Given the description of an element on the screen output the (x, y) to click on. 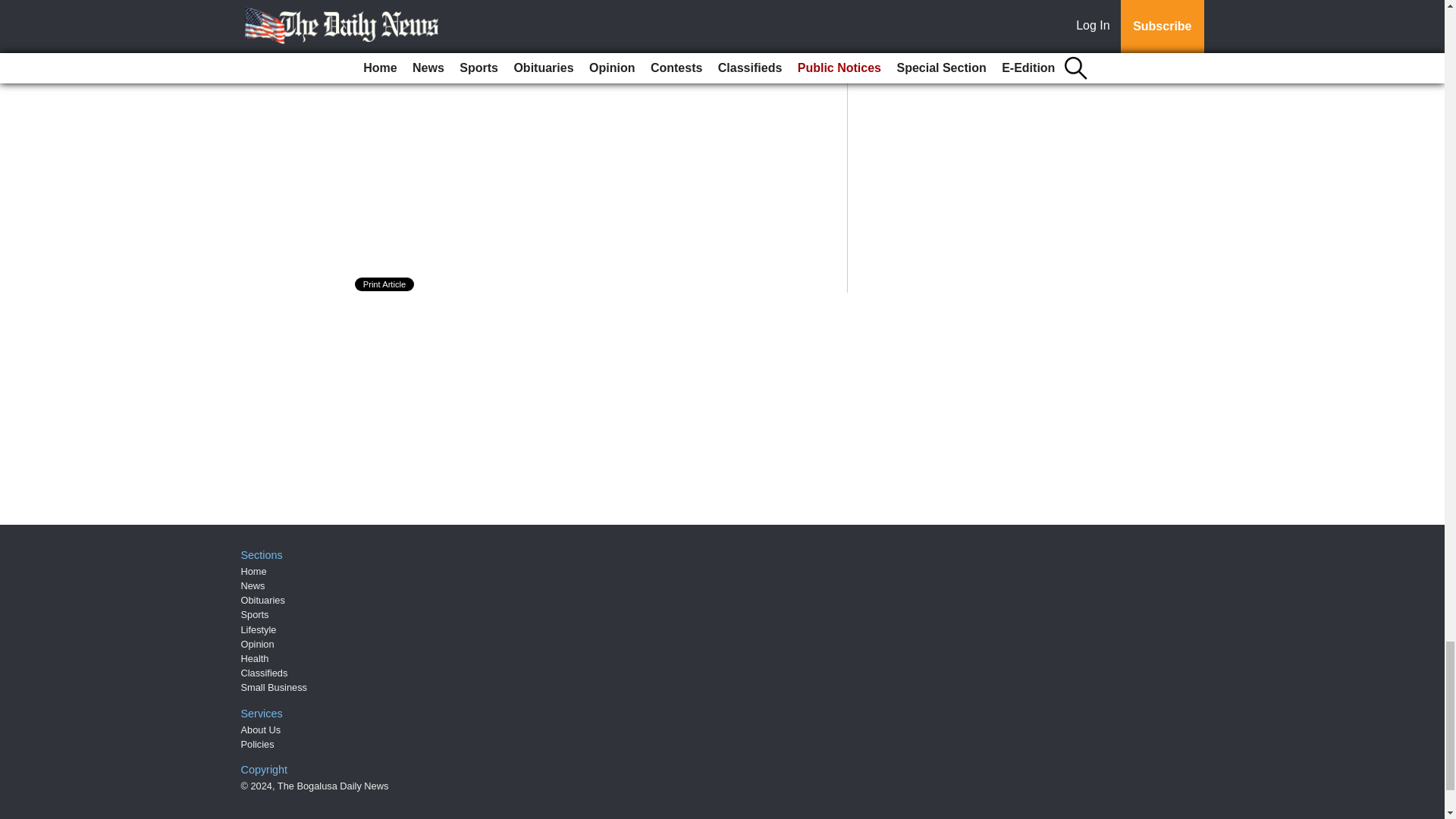
News (252, 585)
Print Article (384, 284)
About Us (261, 729)
Small Business (274, 686)
Opinion (258, 644)
Classifieds (264, 672)
Obituaries (263, 600)
Lifestyle (258, 629)
Home (253, 571)
Policies (258, 744)
Sports (255, 614)
Health (255, 658)
